Given the description of an element on the screen output the (x, y) to click on. 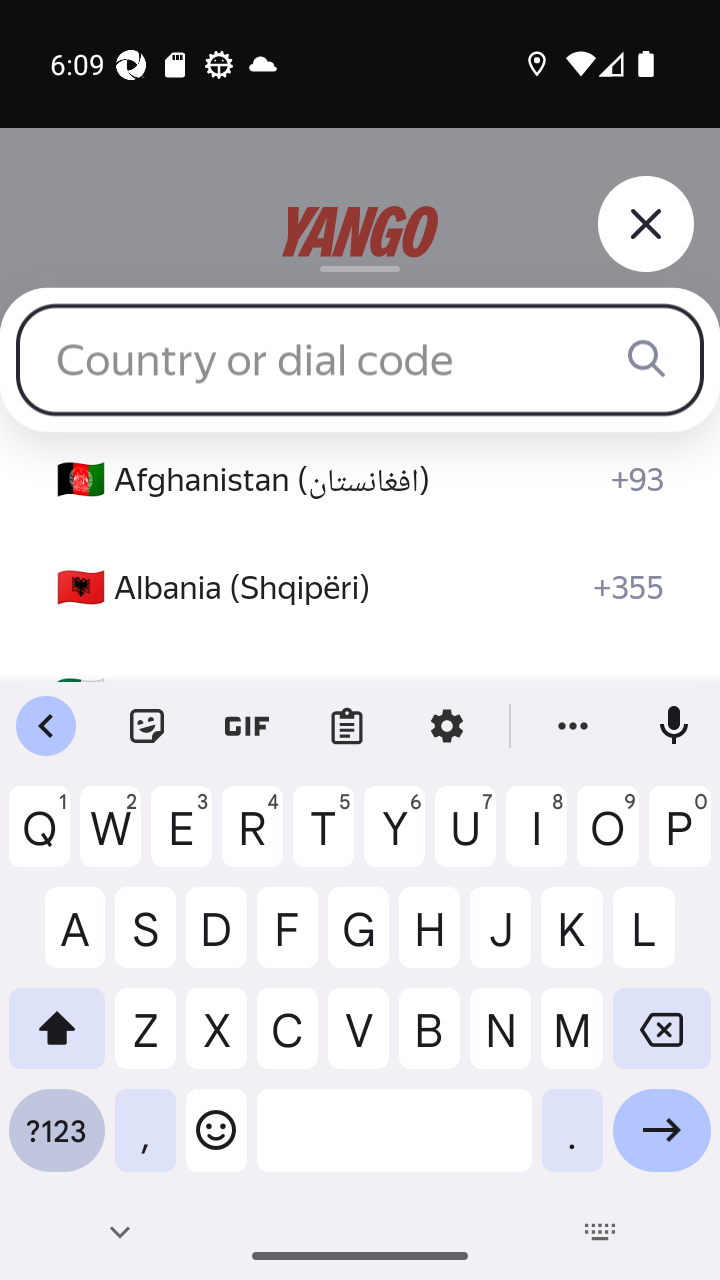
🇦🇫 Afghanistan (‫افغانستان‬‎) +93 (359, 479)
🇦🇱 Albania (Shqipëri) +355 (359, 588)
